Given the description of an element on the screen output the (x, y) to click on. 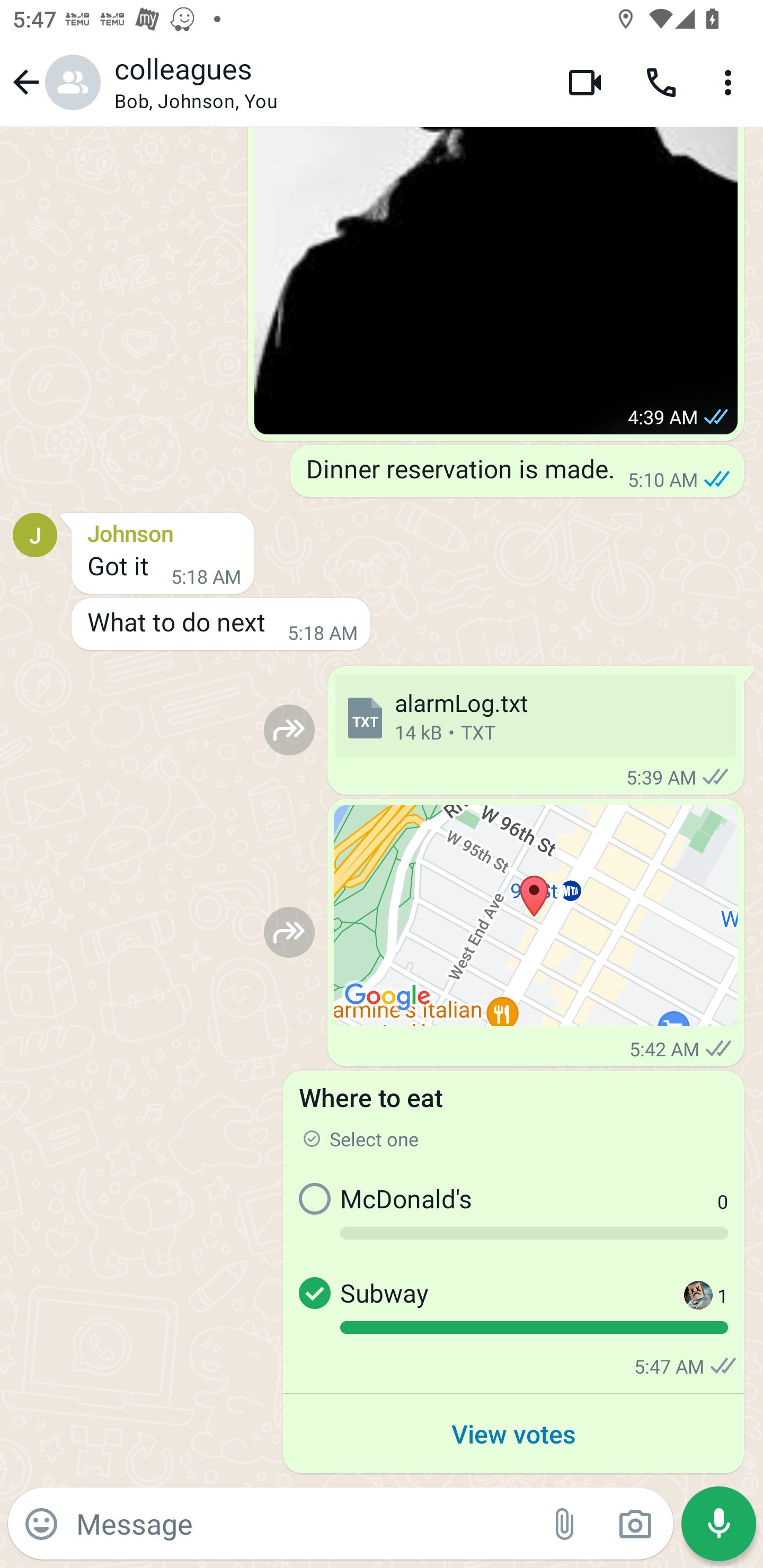
colleagues Bob, Johnson, You (327, 82)
Navigate up (54, 82)
Video call (585, 81)
Voice call (661, 81)
More options (731, 81)
View photo (495, 280)
Profile picture for Johnson J (34, 534)
Johnson (162, 530)
alarmLog.txt 14 kB • TXT (535, 715)
Forward to… (288, 729)
Location (535, 915)
Forward to… (288, 932)
0 (689, 1213)
You 1 (689, 1308)
View votes (513, 1433)
Emoji (41, 1523)
Attach (565, 1523)
Camera (634, 1523)
Message (303, 1523)
